Given the description of an element on the screen output the (x, y) to click on. 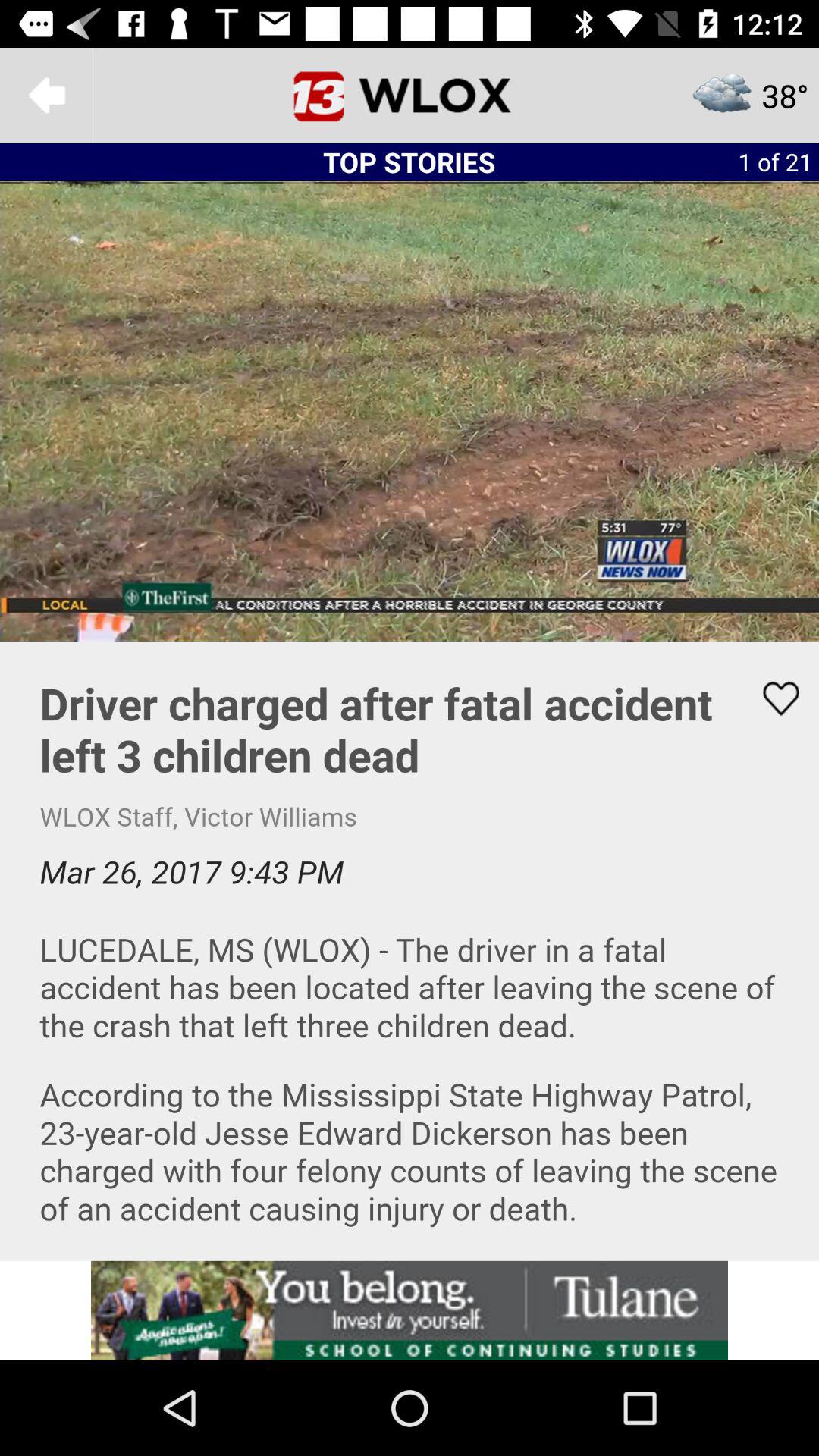
go home page (409, 95)
